Given the description of an element on the screen output the (x, y) to click on. 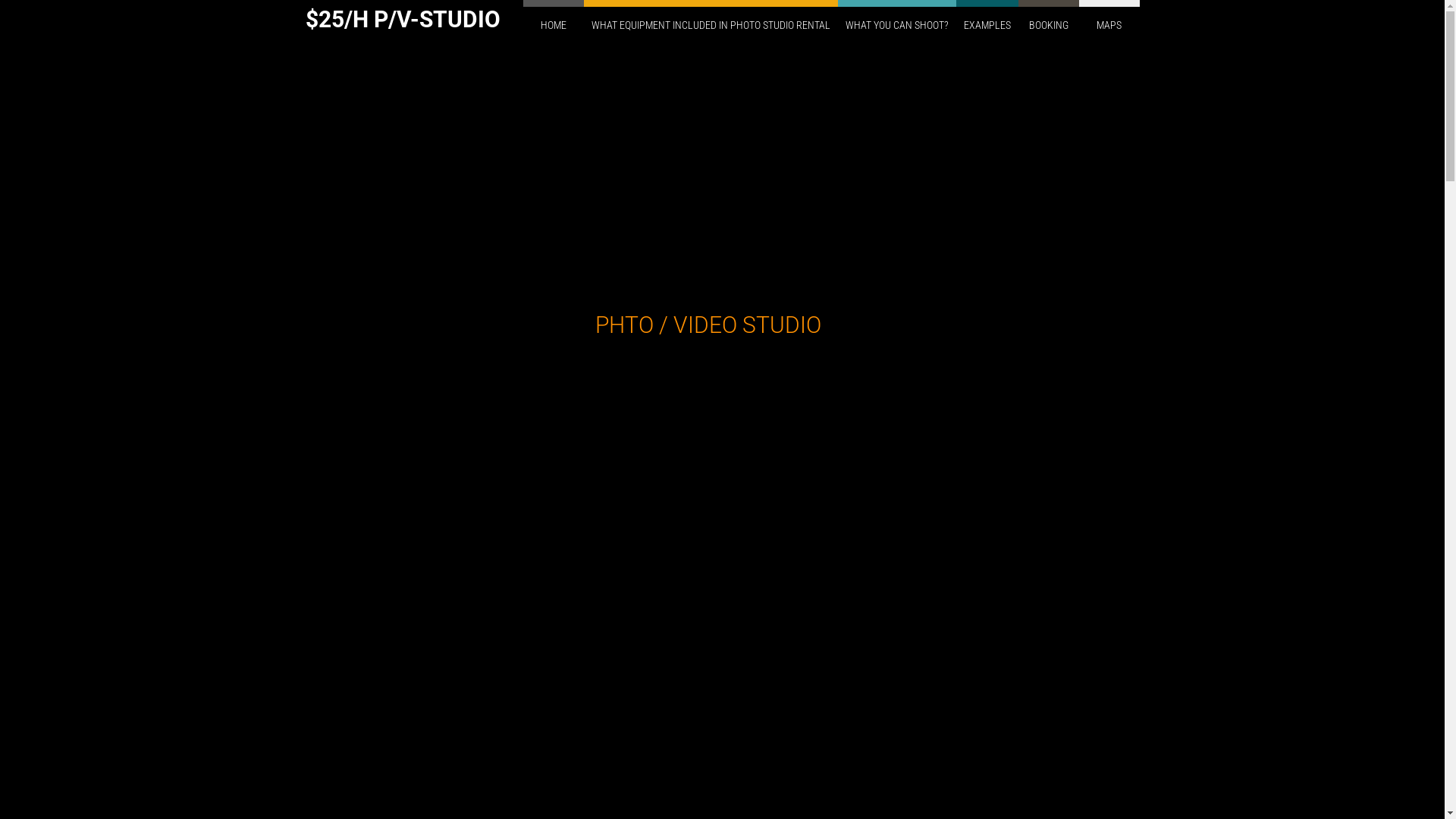
EXAMPLES Element type: text (986, 24)
WHAT YOU CAN SHOOT? Element type: text (896, 24)
BOOKING Element type: text (1047, 24)
MAPS Element type: text (1108, 24)
WHAT EQUIPMENT INCLUDED IN PHOTO STUDIO RENTAL Element type: text (710, 24)
HOME Element type: text (553, 24)
